Given the description of an element on the screen output the (x, y) to click on. 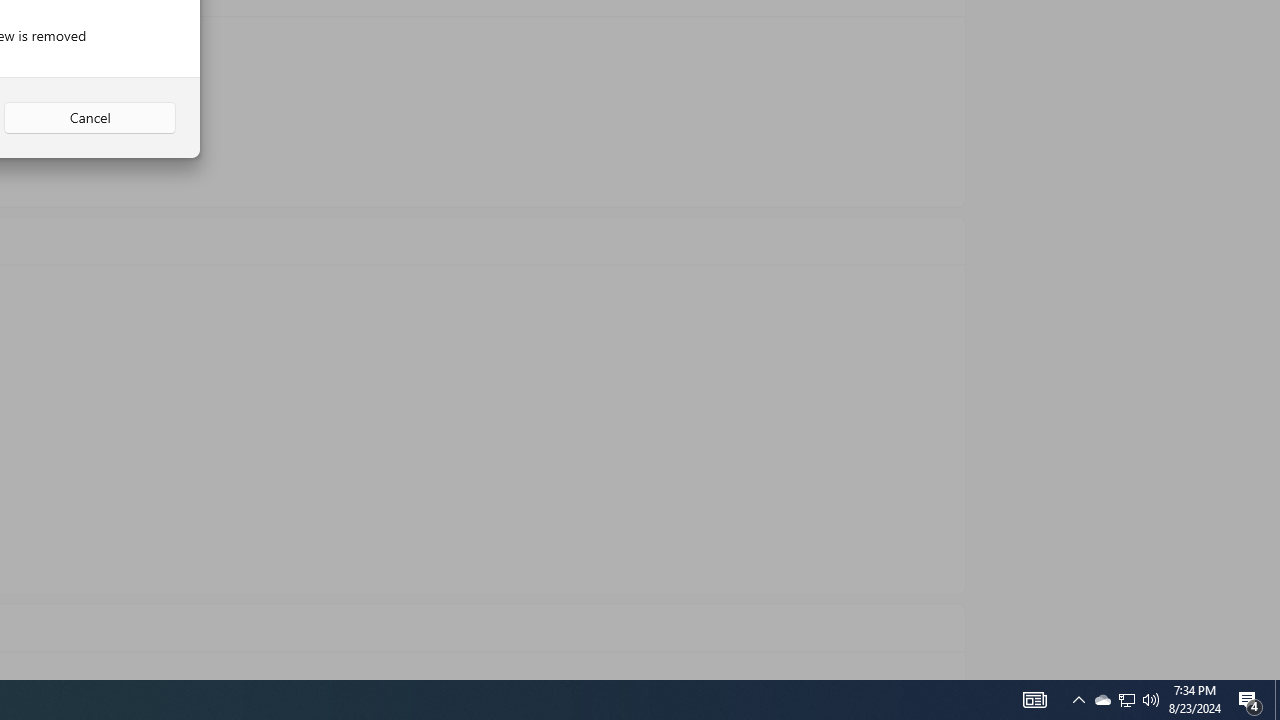
Cancel (89, 117)
